Given the description of an element on the screen output the (x, y) to click on. 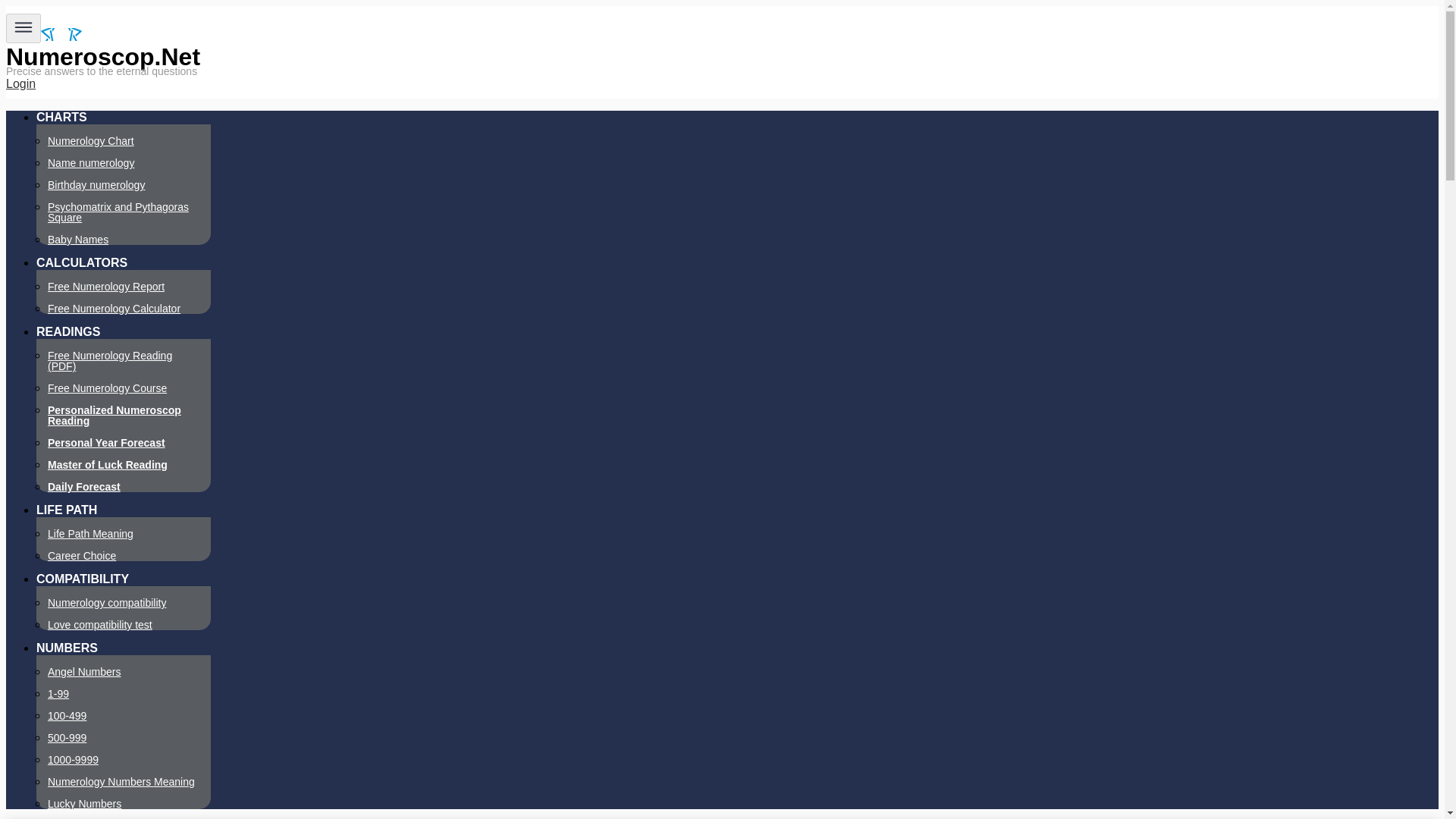
Numerology compatibility (106, 603)
1-99 (58, 693)
Personal Year Forecast (106, 442)
Free Numerology Report (106, 286)
Angel Numbers (84, 671)
Daily Forecast (84, 486)
Baby Names (77, 239)
Name numerology (90, 162)
CALCULATORS (82, 262)
Free Numerology Course (107, 387)
Login (19, 83)
500-999 (66, 737)
100-499 (66, 715)
1000-9999 (73, 759)
Lucky Numbers (84, 803)
